Given the description of an element on the screen output the (x, y) to click on. 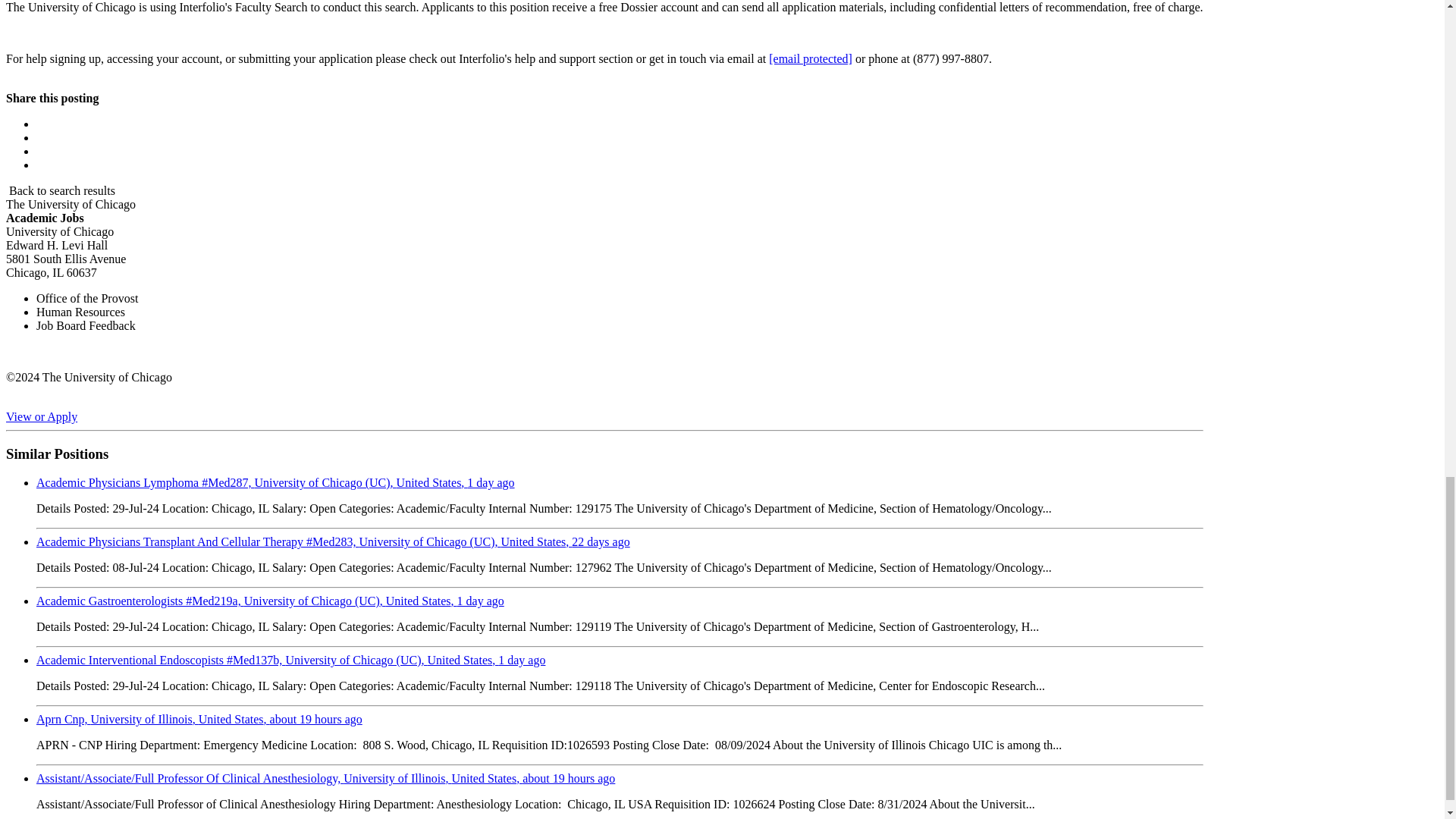
View or Apply (41, 416)
